Given the description of an element on the screen output the (x, y) to click on. 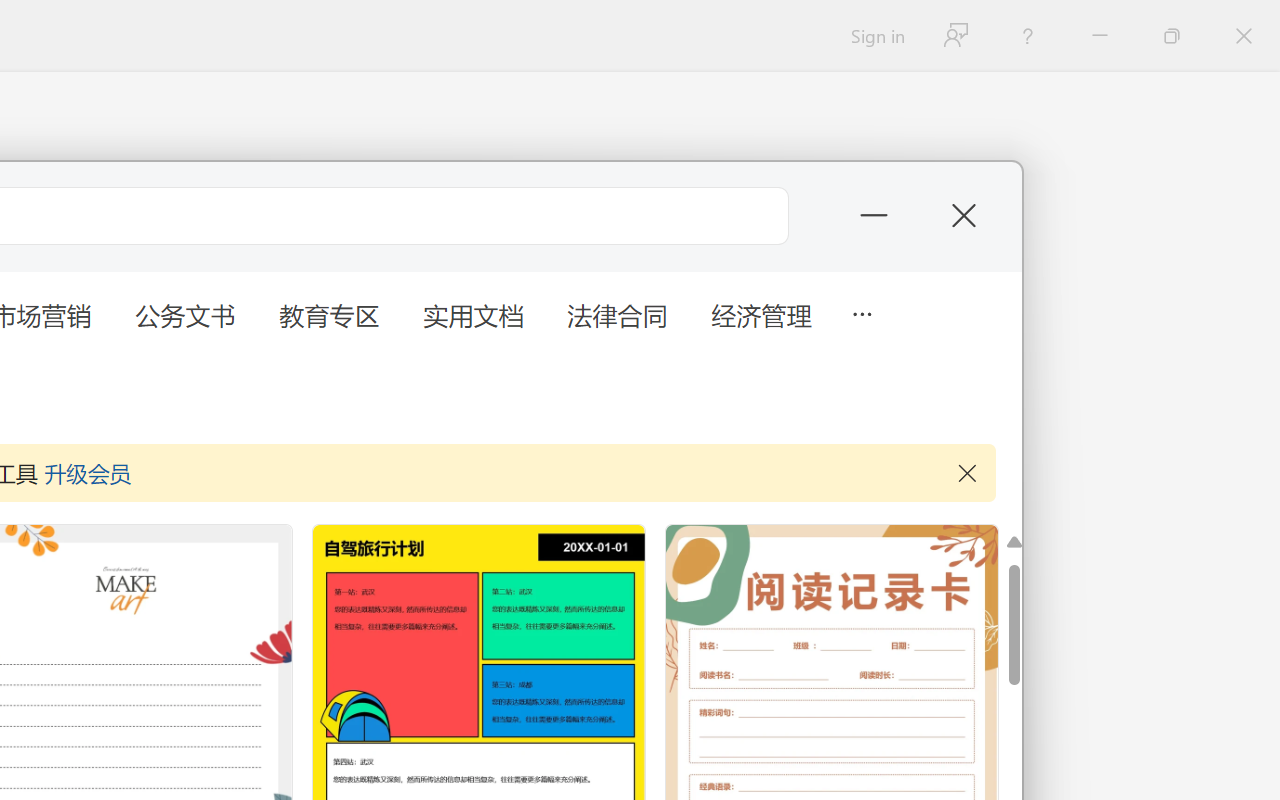
5 more tabs (861, 312)
Sign in (875, 35)
